Given the description of an element on the screen output the (x, y) to click on. 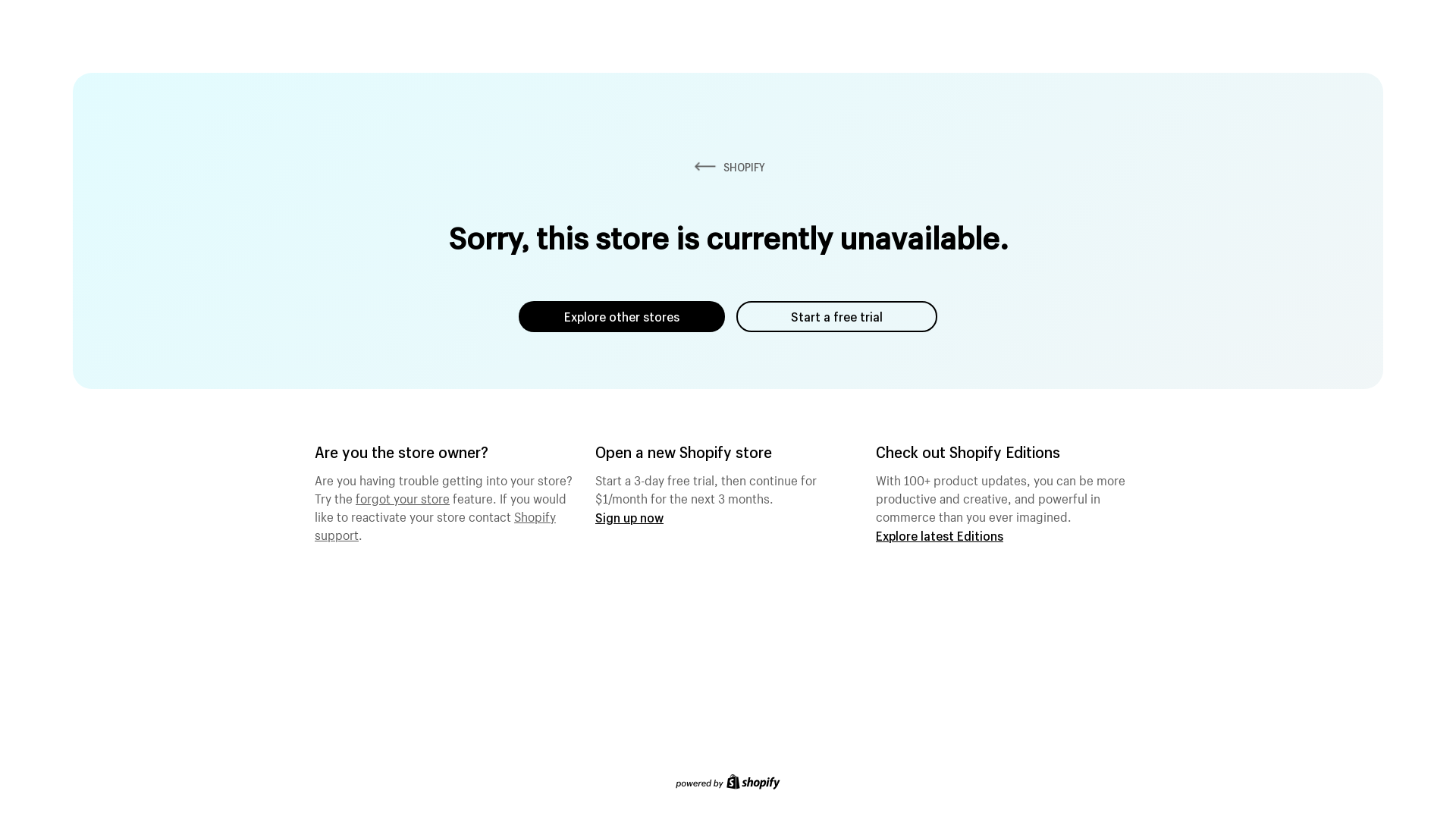
forgot your store Element type: text (402, 496)
SHOPIFY Element type: text (727, 167)
Start a free trial Element type: text (836, 316)
Sign up now Element type: text (629, 517)
Shopify support Element type: text (434, 523)
Explore other stores Element type: text (621, 316)
Explore latest Editions Element type: text (939, 535)
